Given the description of an element on the screen output the (x, y) to click on. 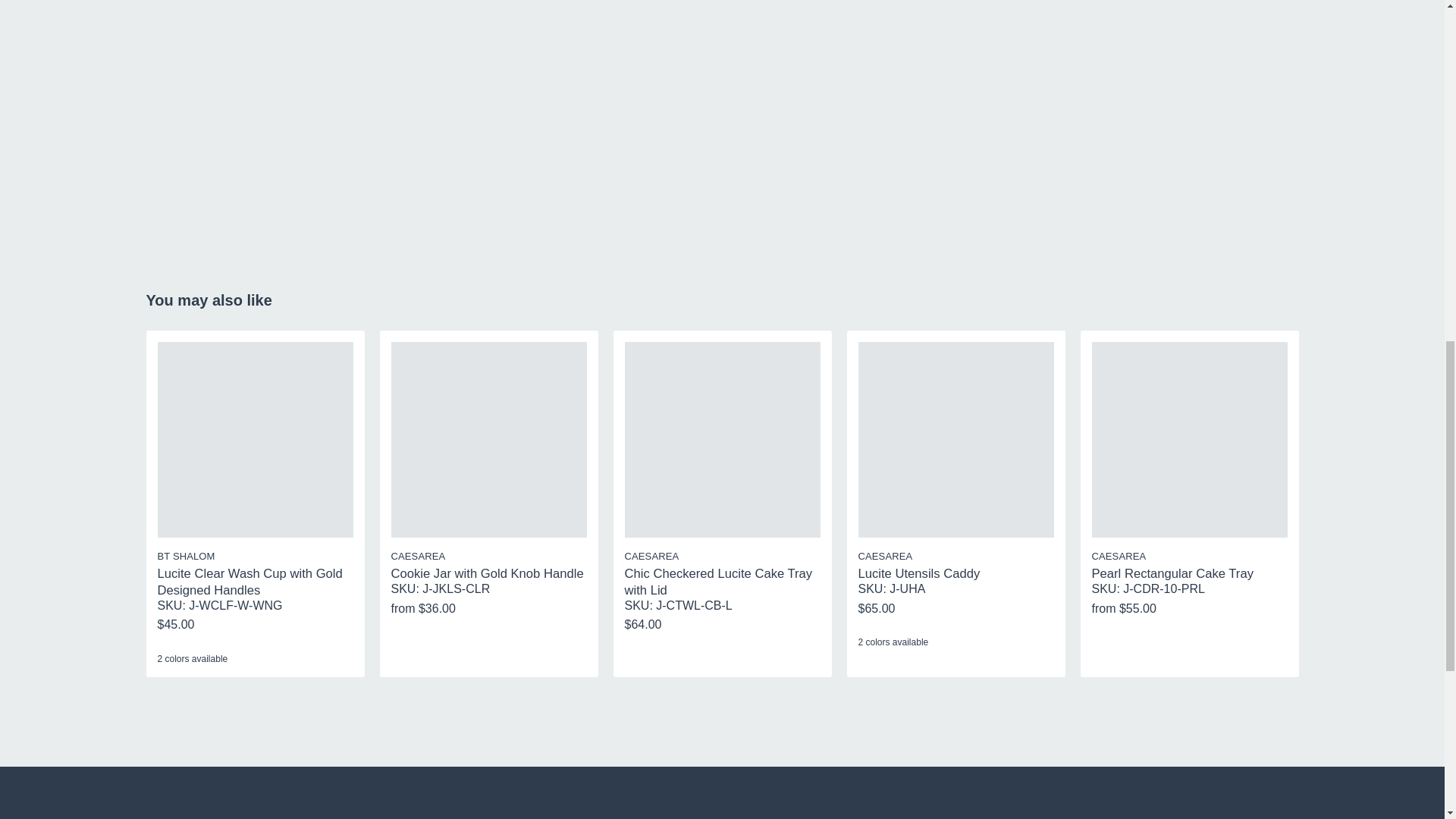
Cleaning Lucite (788, 120)
